Given the description of an element on the screen output the (x, y) to click on. 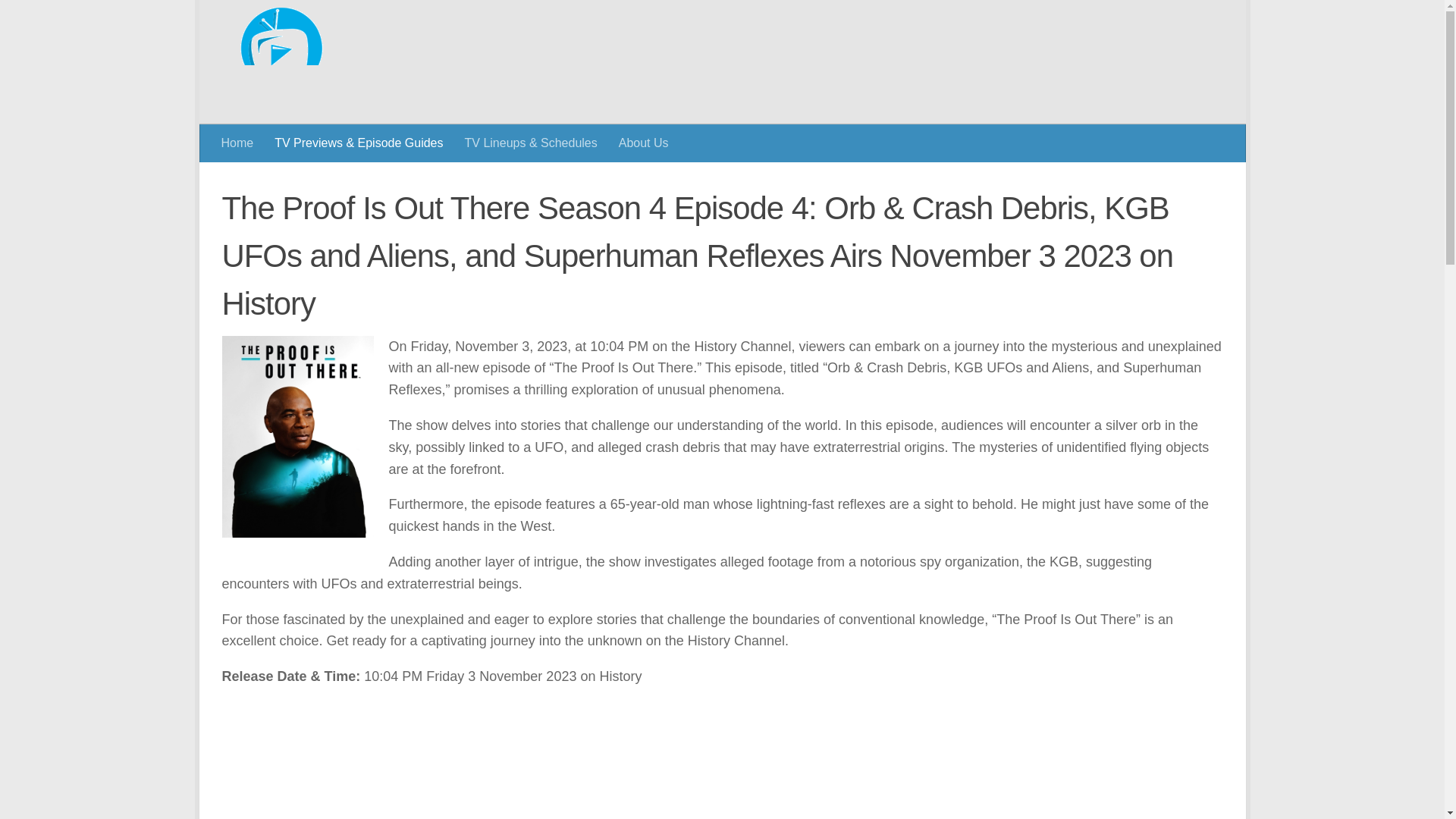
Skip to content (263, 20)
Home (237, 121)
About Us (643, 121)
